Given the description of an element on the screen output the (x, y) to click on. 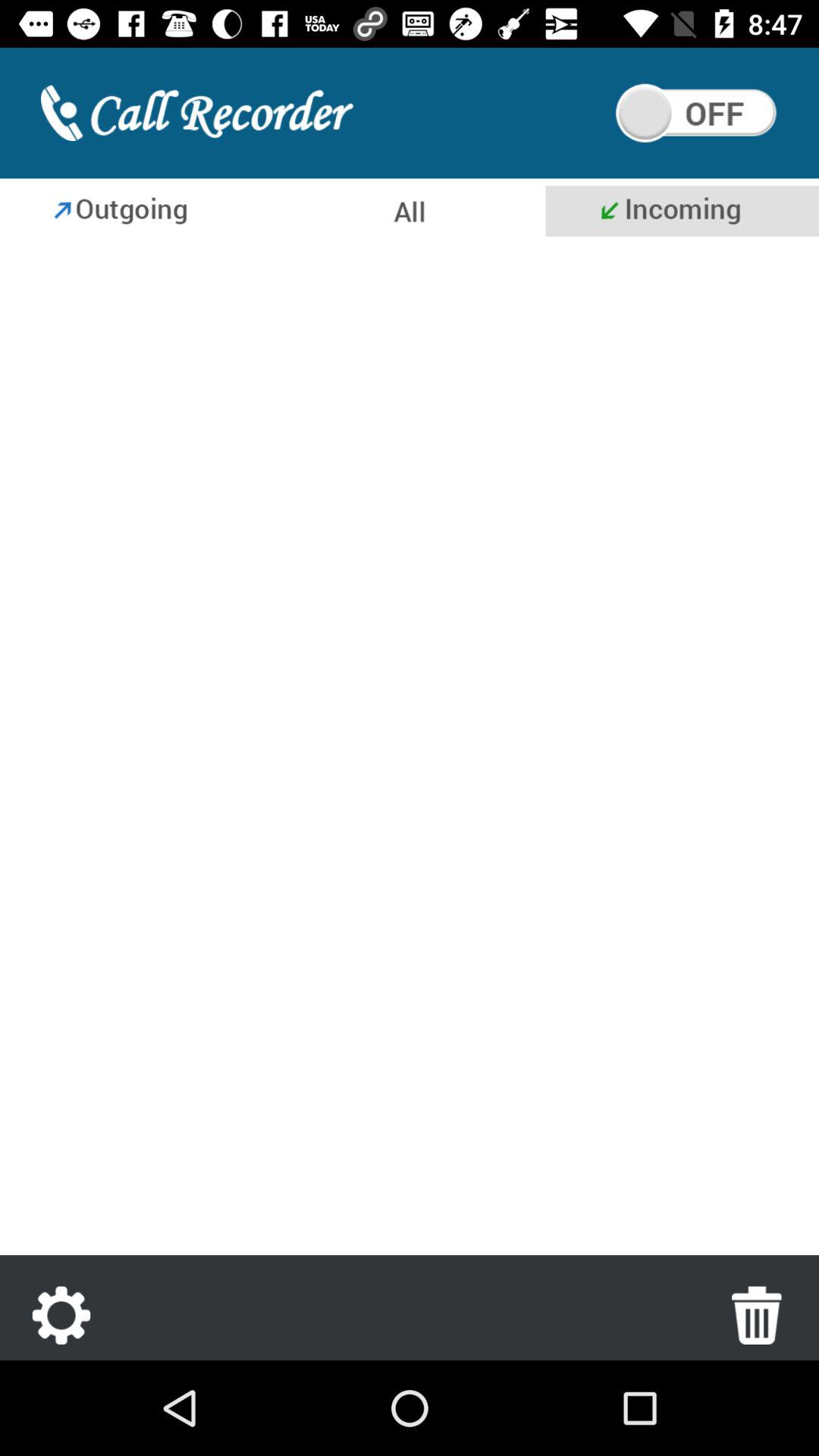
go to settings (61, 1315)
